Given the description of an element on the screen output the (x, y) to click on. 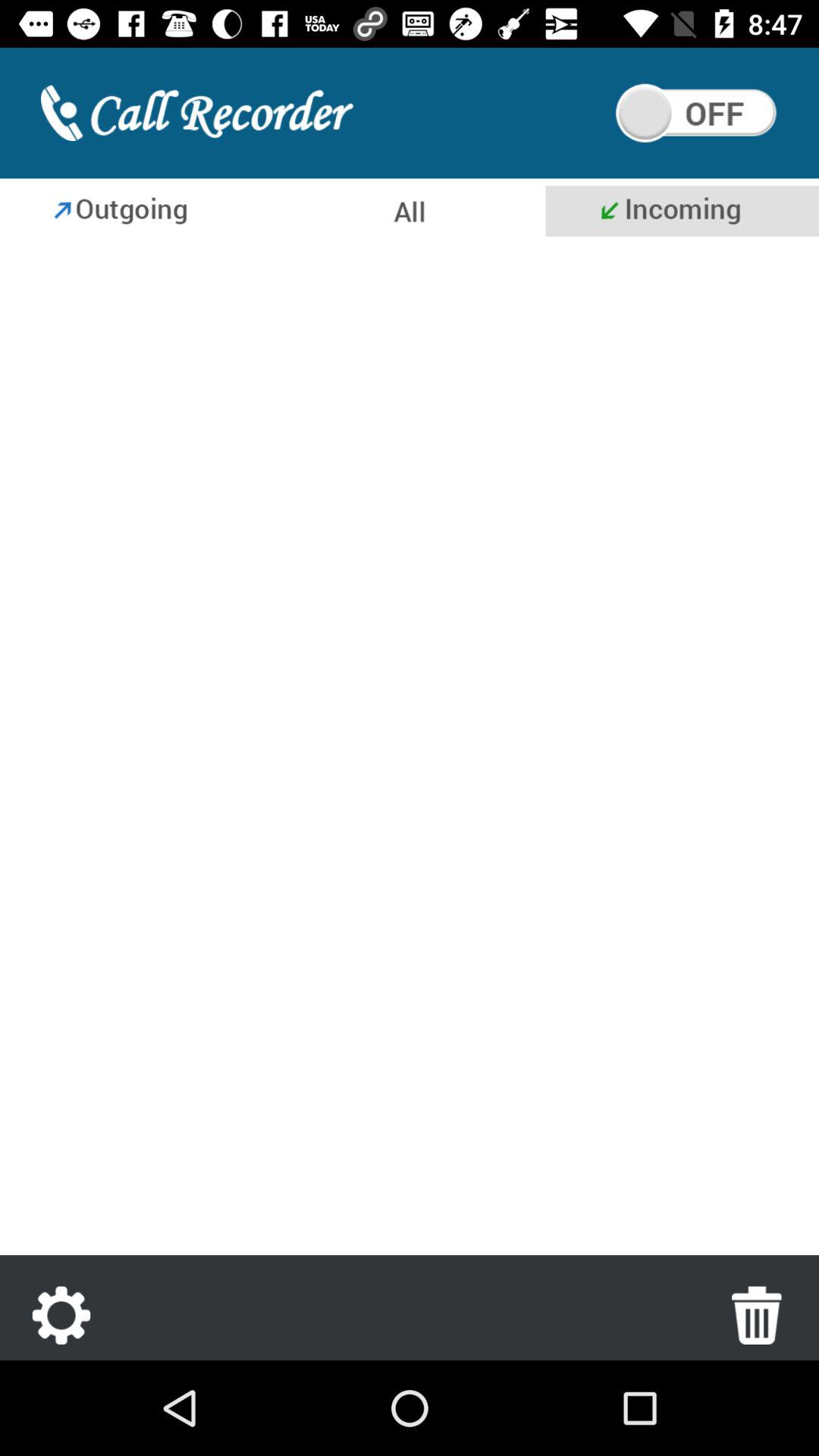
go to settings (61, 1315)
